Given the description of an element on the screen output the (x, y) to click on. 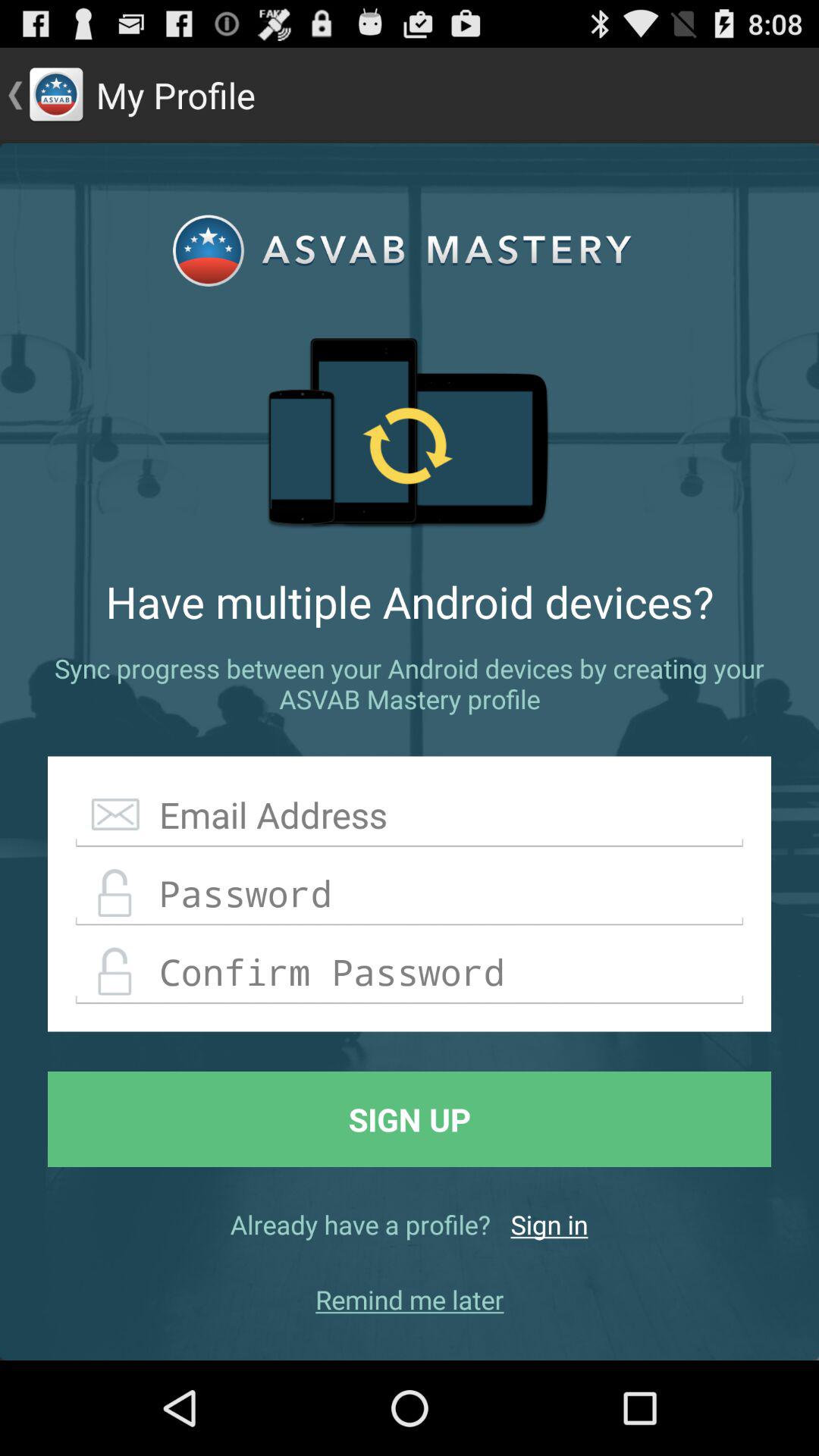
choose sign in (549, 1224)
